Given the description of an element on the screen output the (x, y) to click on. 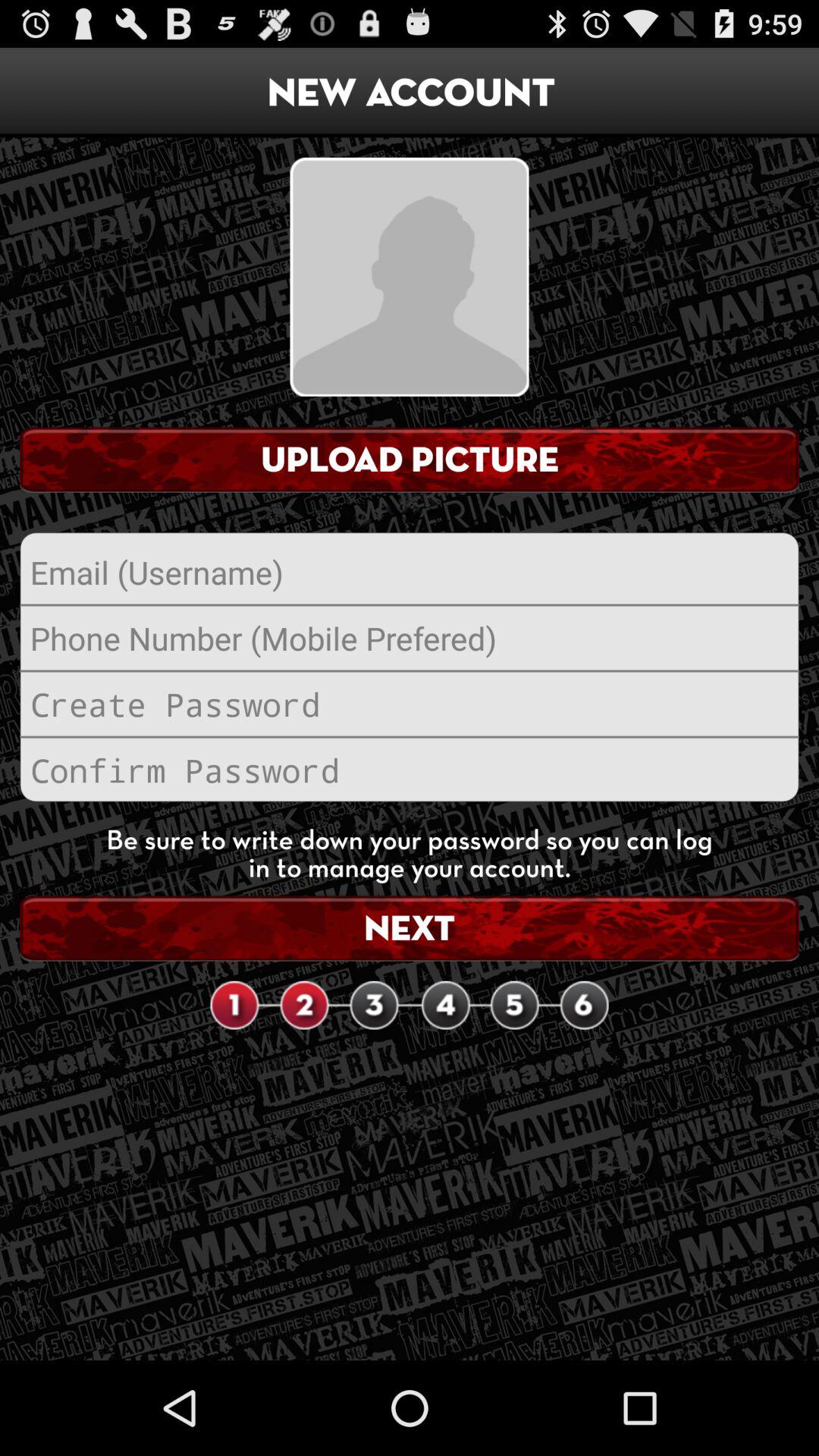
enter password (409, 703)
